Given the description of an element on the screen output the (x, y) to click on. 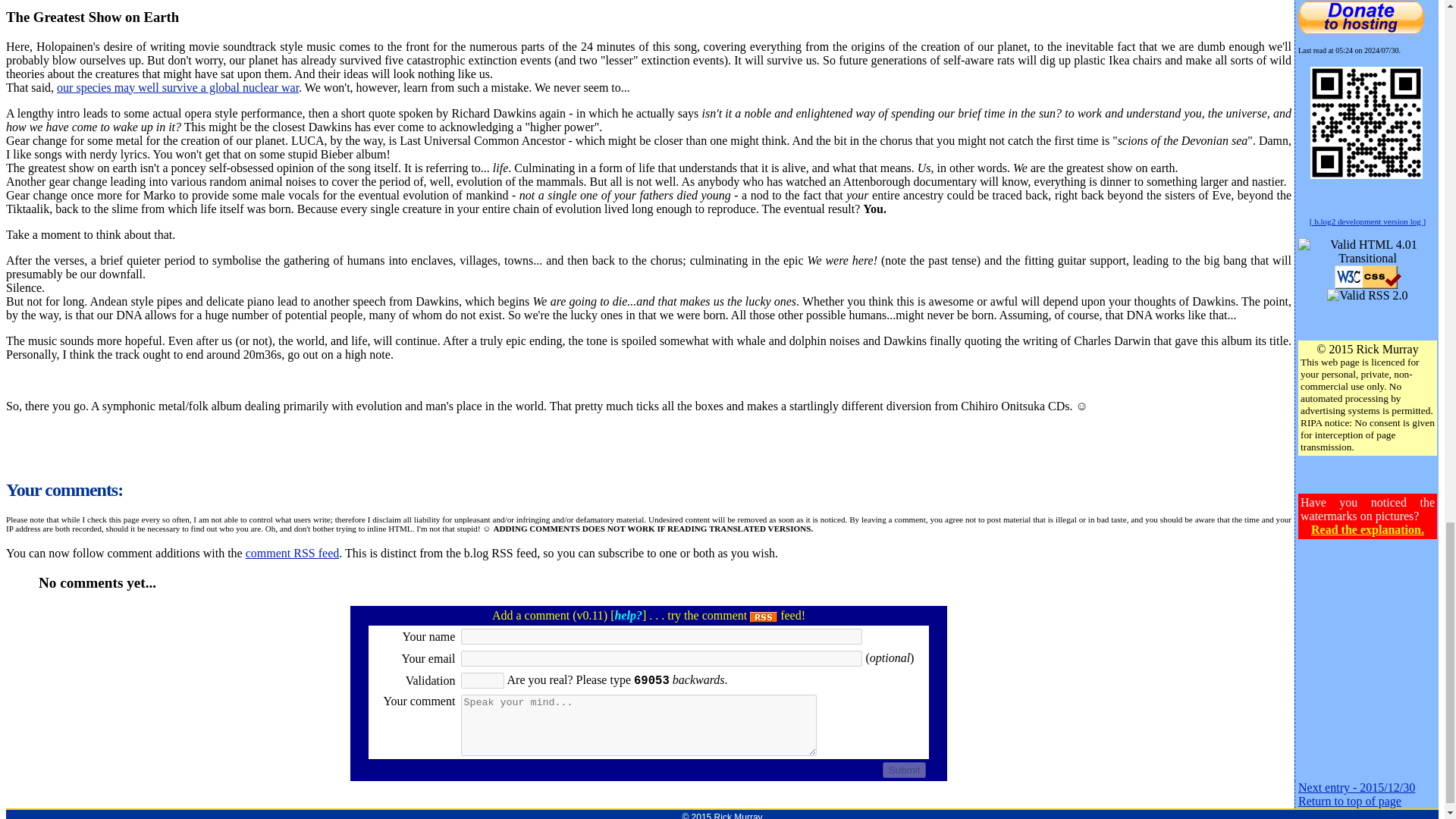
Submit (904, 770)
our species may well survive a global nuclear war (177, 87)
comment RSS feed (292, 553)
help? (628, 615)
Submit (904, 770)
